Given the description of an element on the screen output the (x, y) to click on. 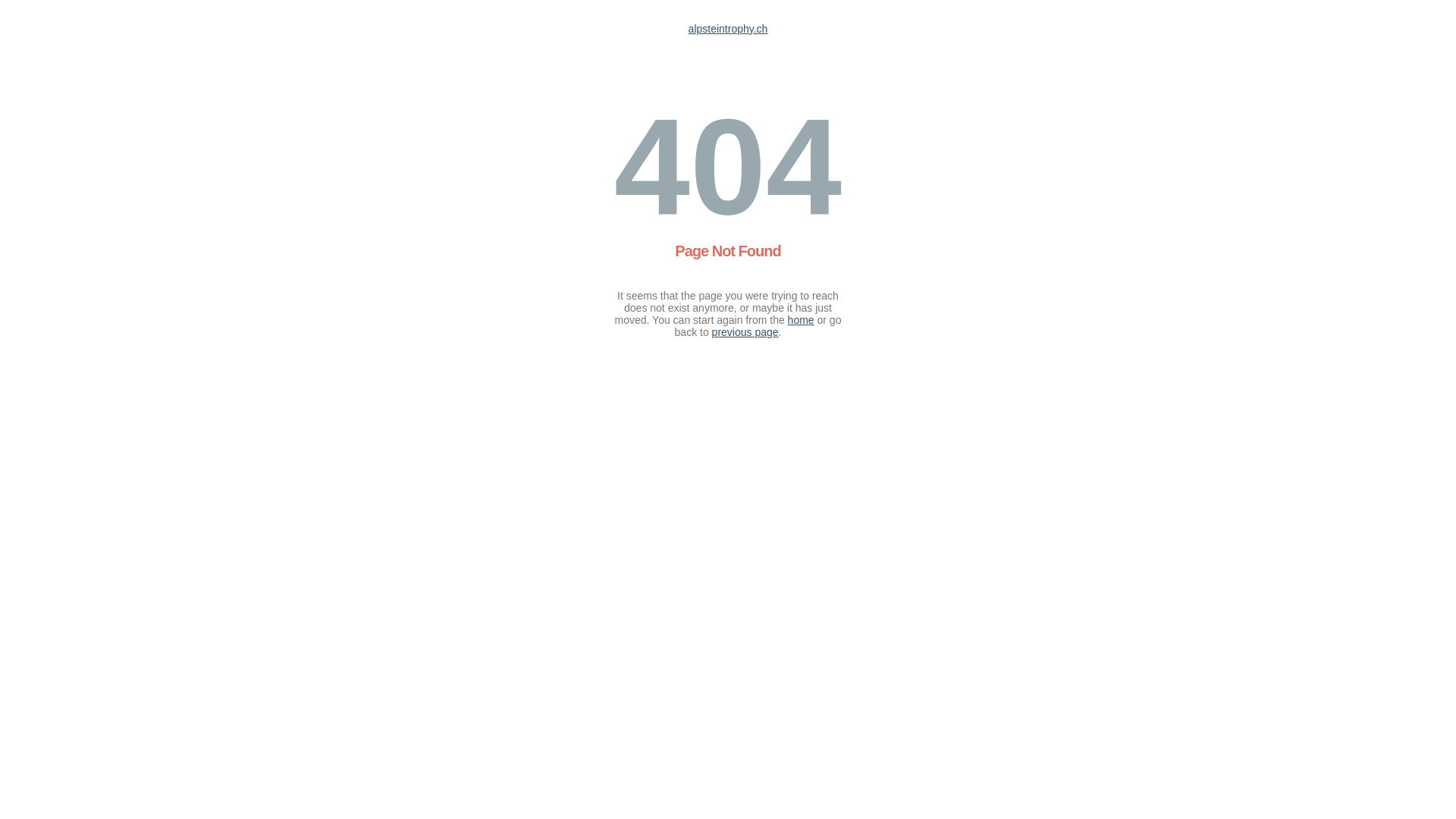
previous page Element type: text (745, 332)
home Element type: text (800, 319)
alpsteintrophy.ch Element type: text (728, 28)
